Given the description of an element on the screen output the (x, y) to click on. 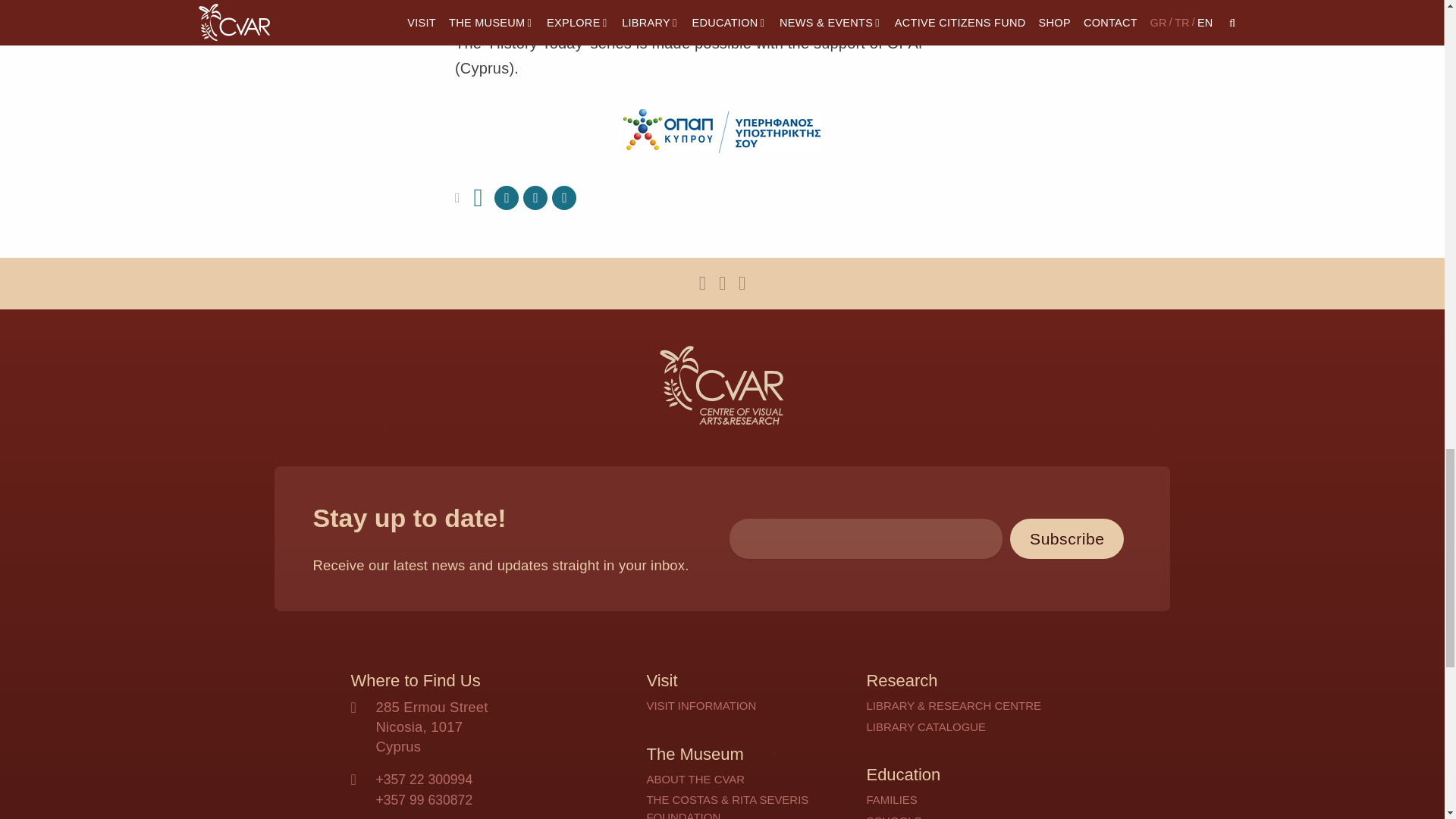
Subscribe (1067, 538)
